Given the description of an element on the screen output the (x, y) to click on. 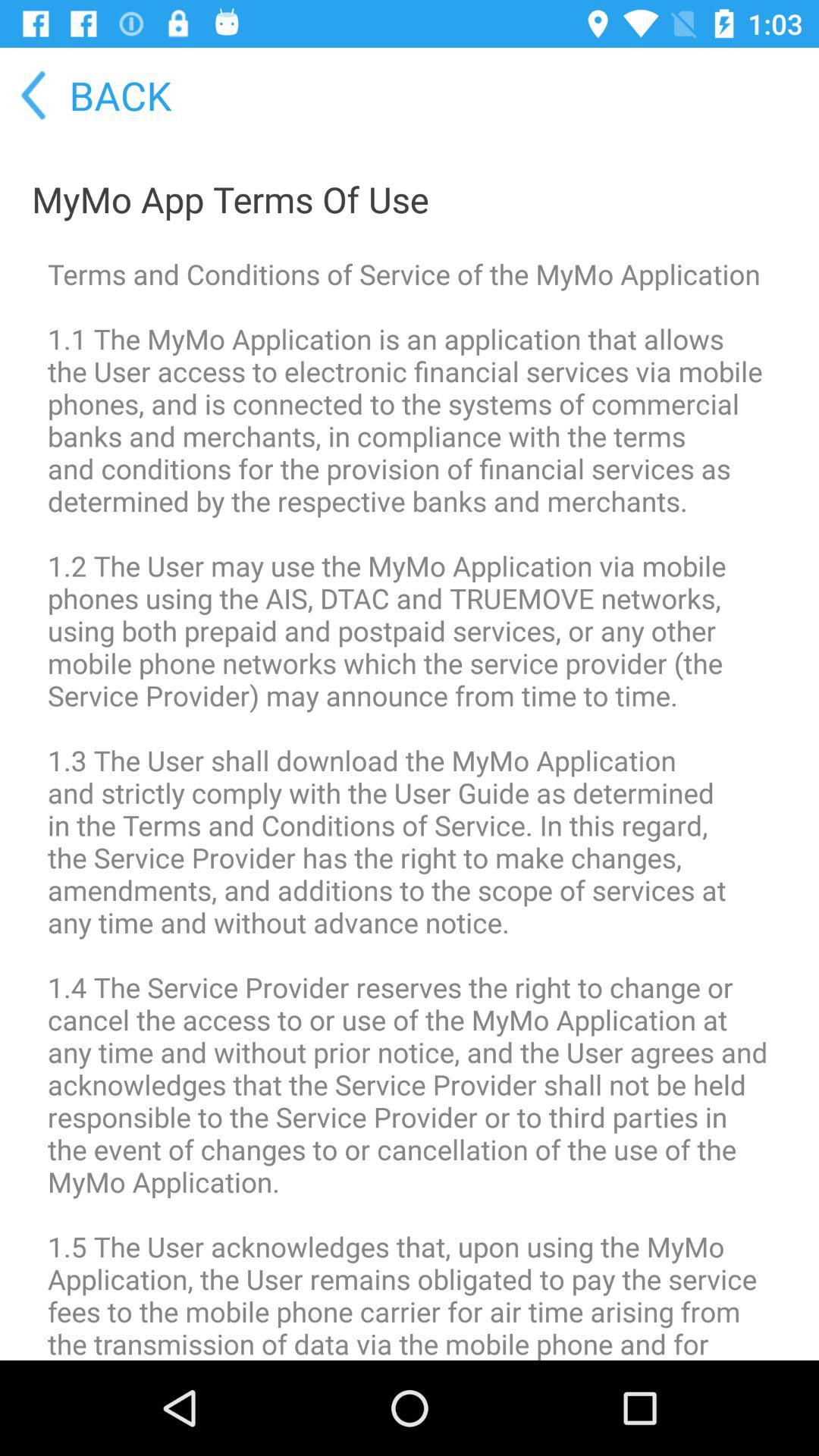
swipe to the back item (87, 95)
